Given the description of an element on the screen output the (x, y) to click on. 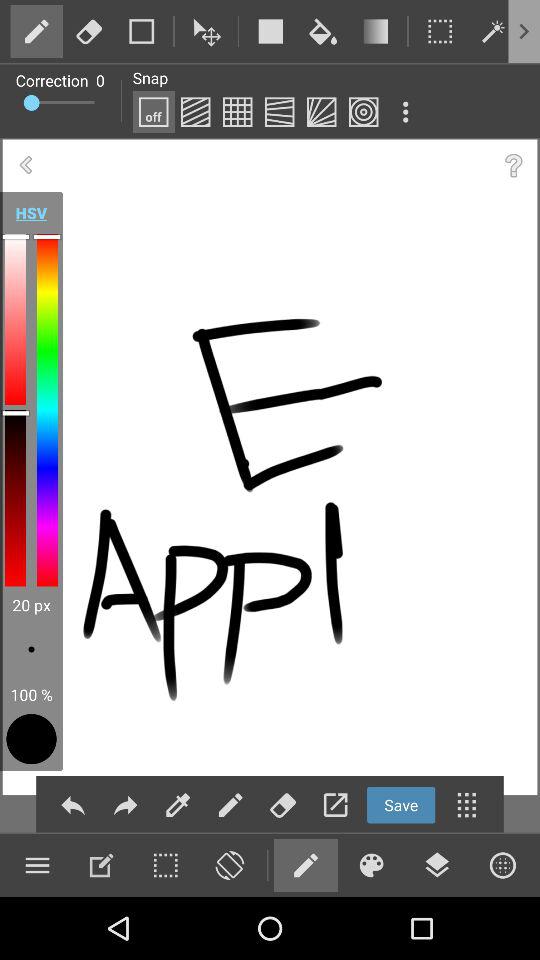
fill paint (323, 31)
